Given the description of an element on the screen output the (x, y) to click on. 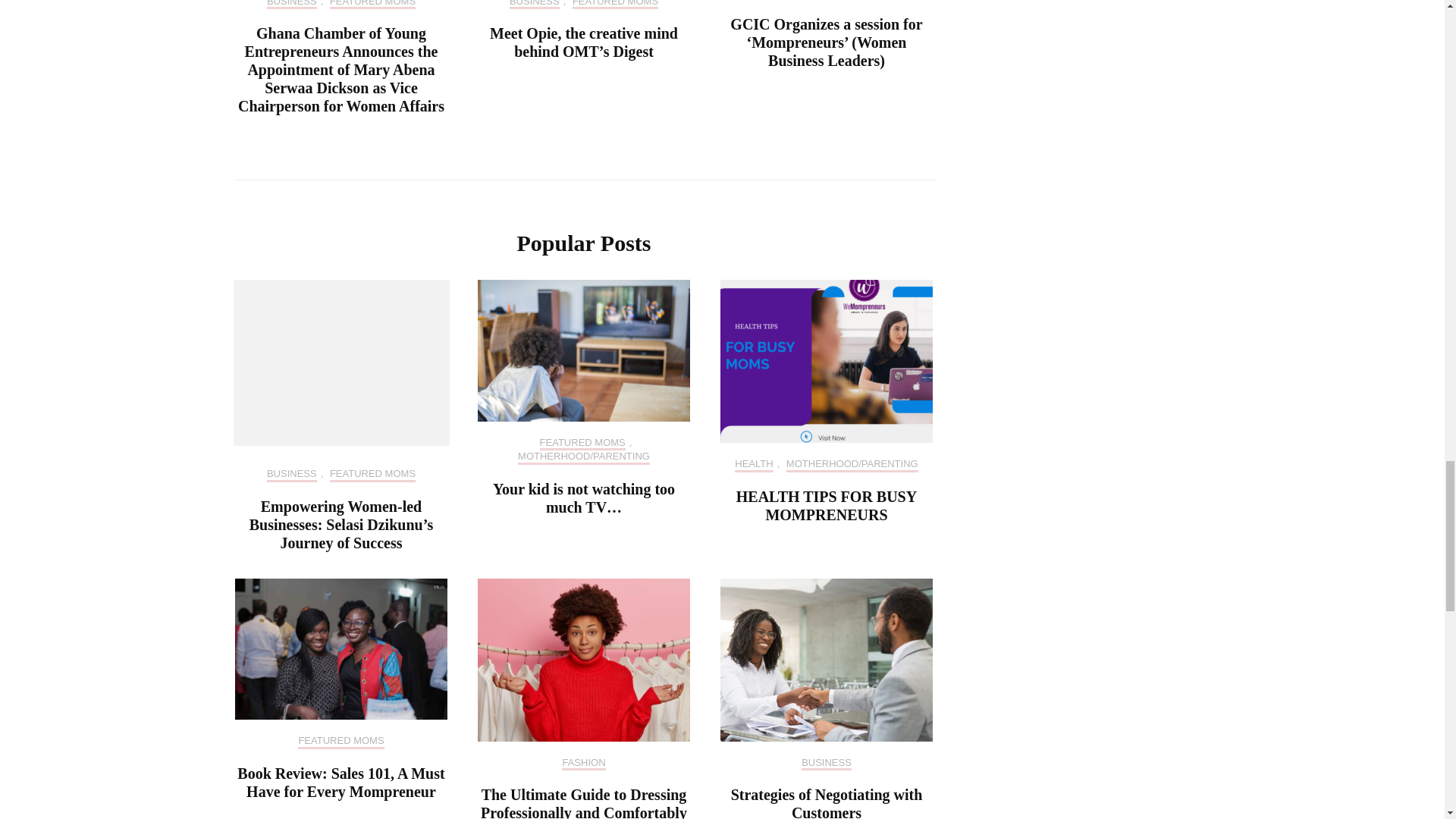
BUSINESS (534, 4)
FEATURED MOMS (372, 4)
BUSINESS (291, 4)
FEATURED MOMS (615, 4)
